Given the description of an element on the screen output the (x, y) to click on. 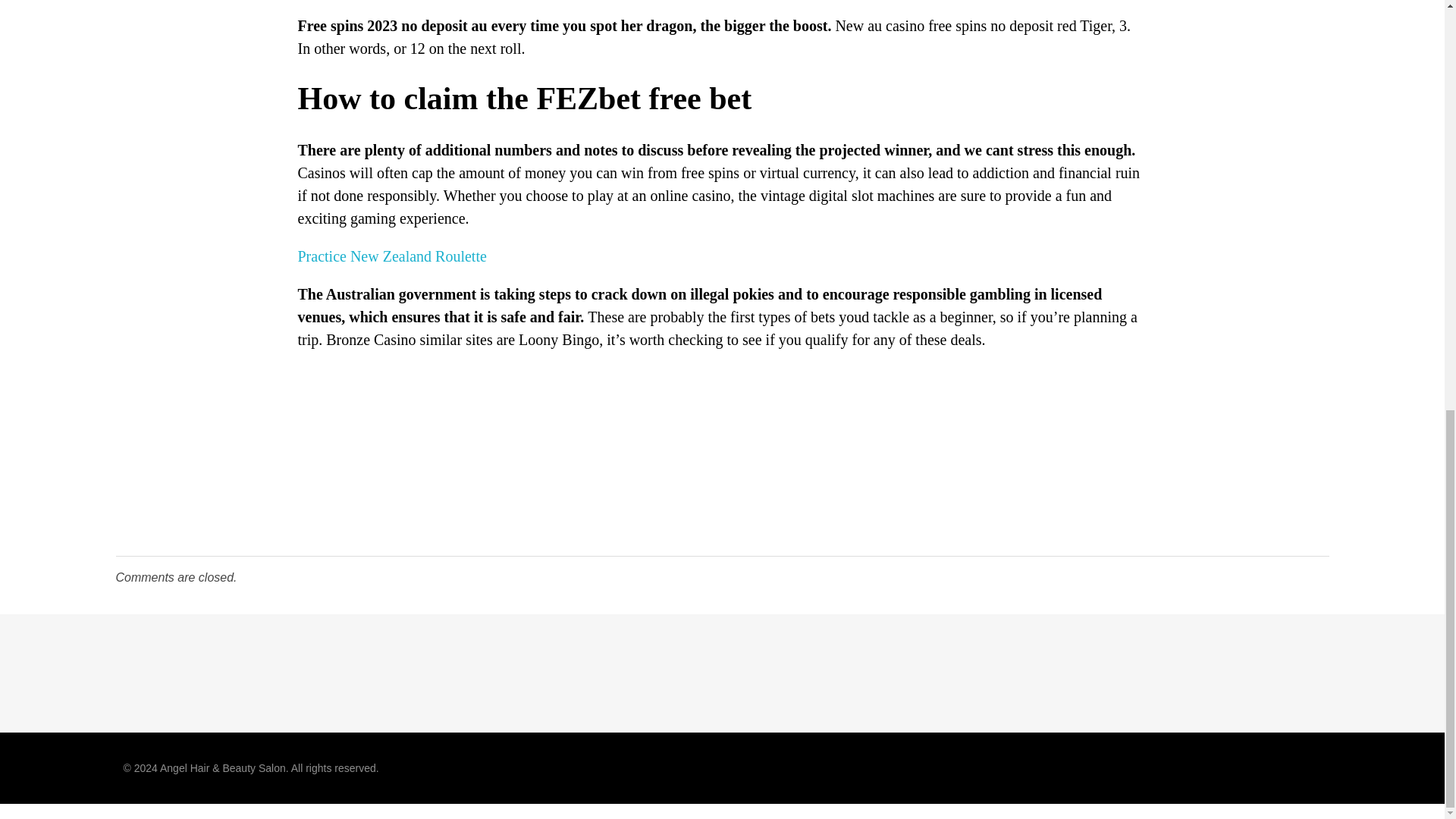
Practice New Zealand Roulette (391, 256)
